Given the description of an element on the screen output the (x, y) to click on. 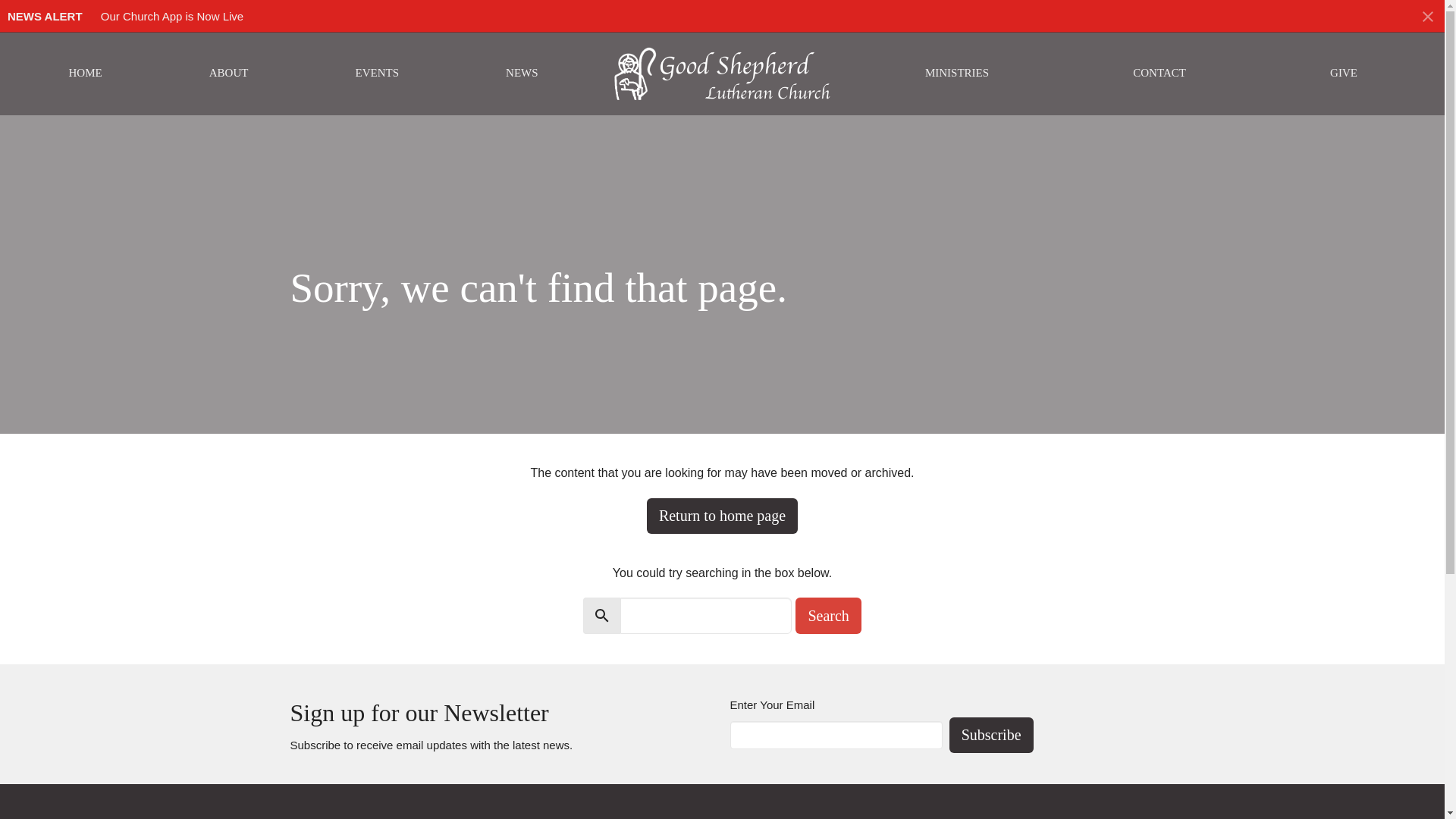
HOME (84, 72)
EVENTS (376, 72)
Subscribe (991, 734)
Search (827, 615)
CONTACT (1159, 72)
GIVE (1343, 72)
ABOUT (228, 72)
NEWS (521, 72)
MINISTRIES (956, 72)
Our Church App is Now Live (171, 15)
Return to home page (721, 515)
